Given the description of an element on the screen output the (x, y) to click on. 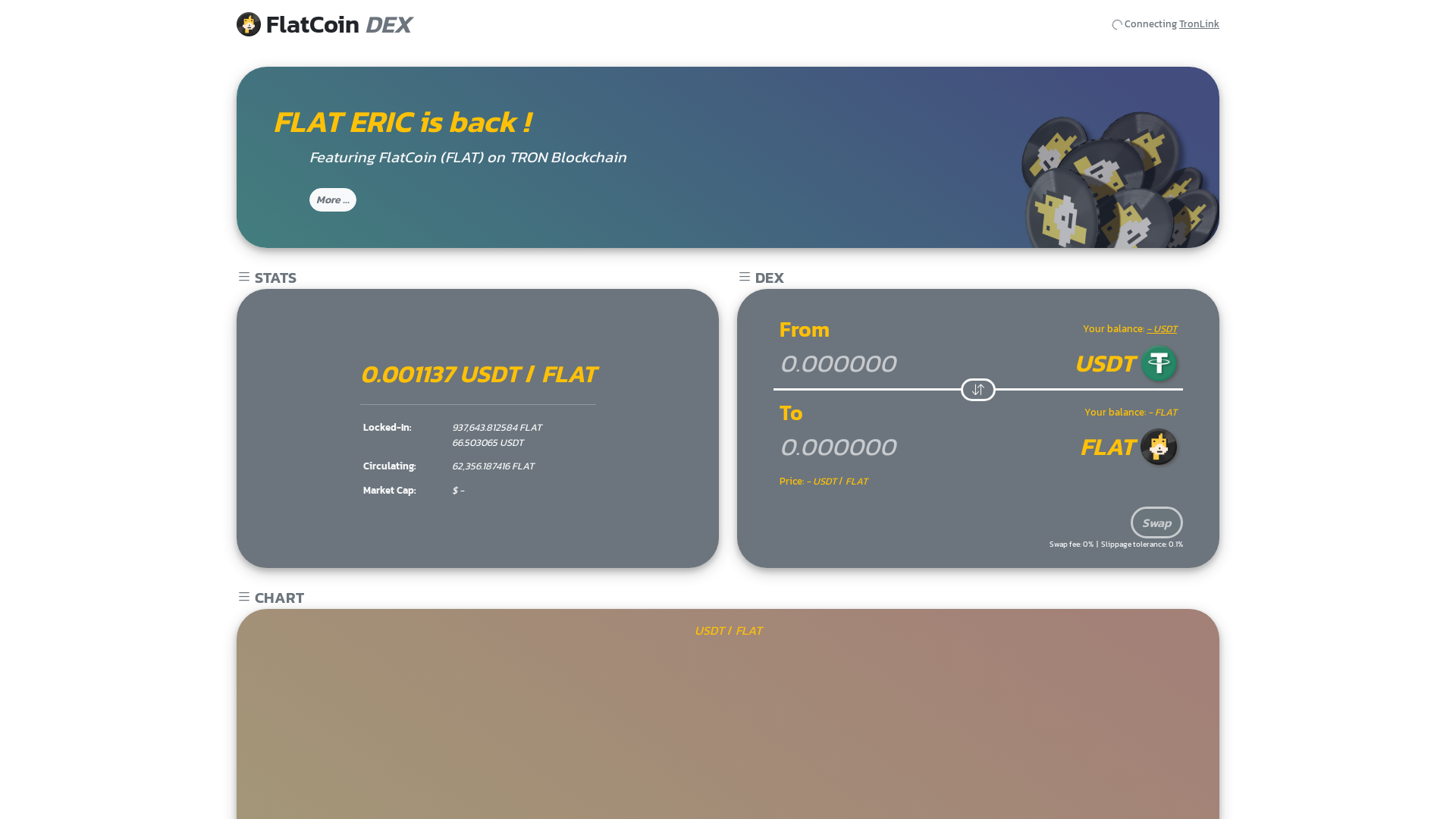
- USDT Element type: text (1161, 328)
More ... Element type: text (332, 199)
Swap Element type: text (1156, 522)
TronLink Element type: text (1199, 23)
